Given the description of an element on the screen output the (x, y) to click on. 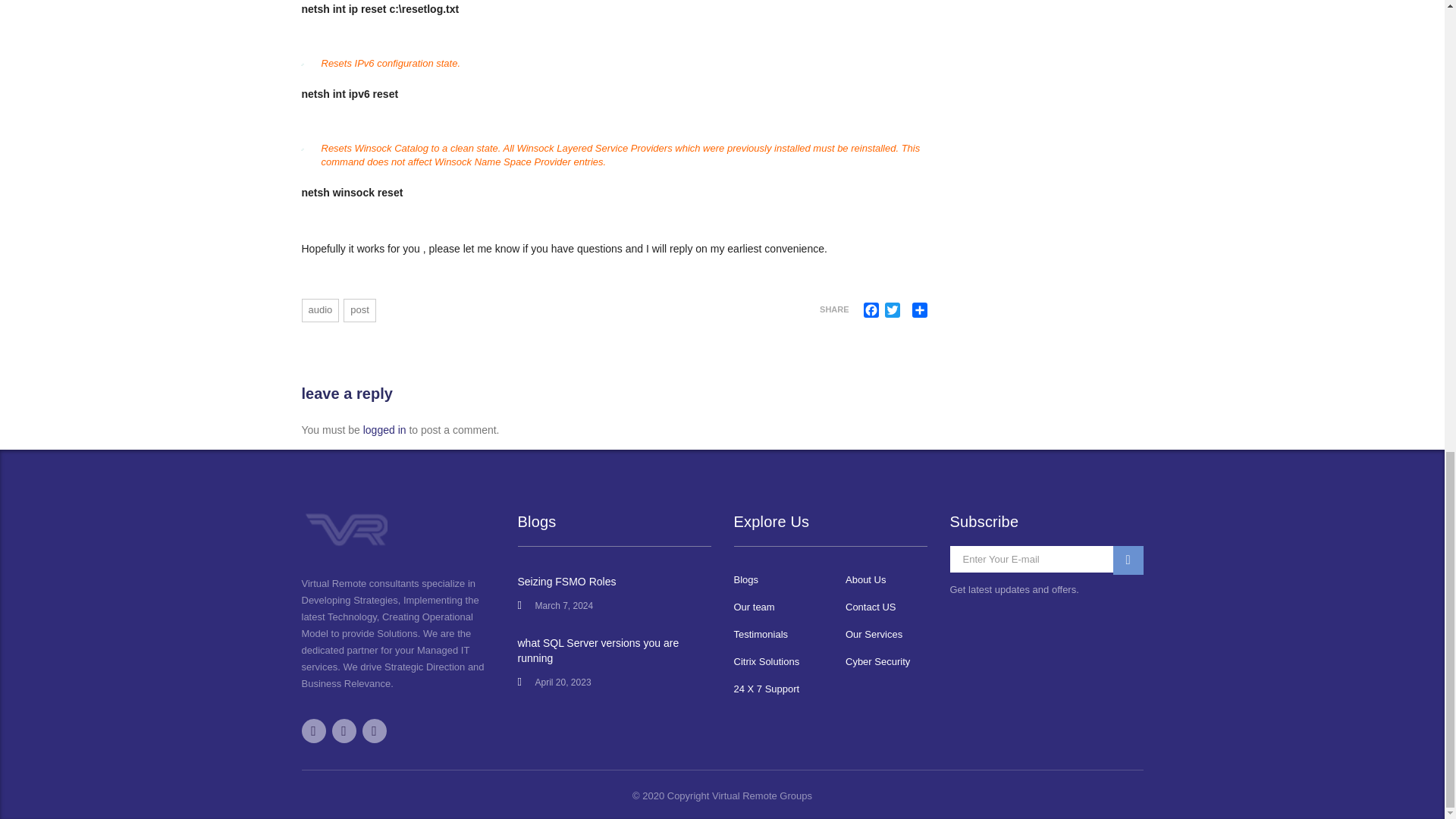
audio (320, 310)
Facebook (870, 309)
Twitter (891, 309)
Twitter (891, 309)
Facebook (870, 309)
post (359, 310)
